Given the description of an element on the screen output the (x, y) to click on. 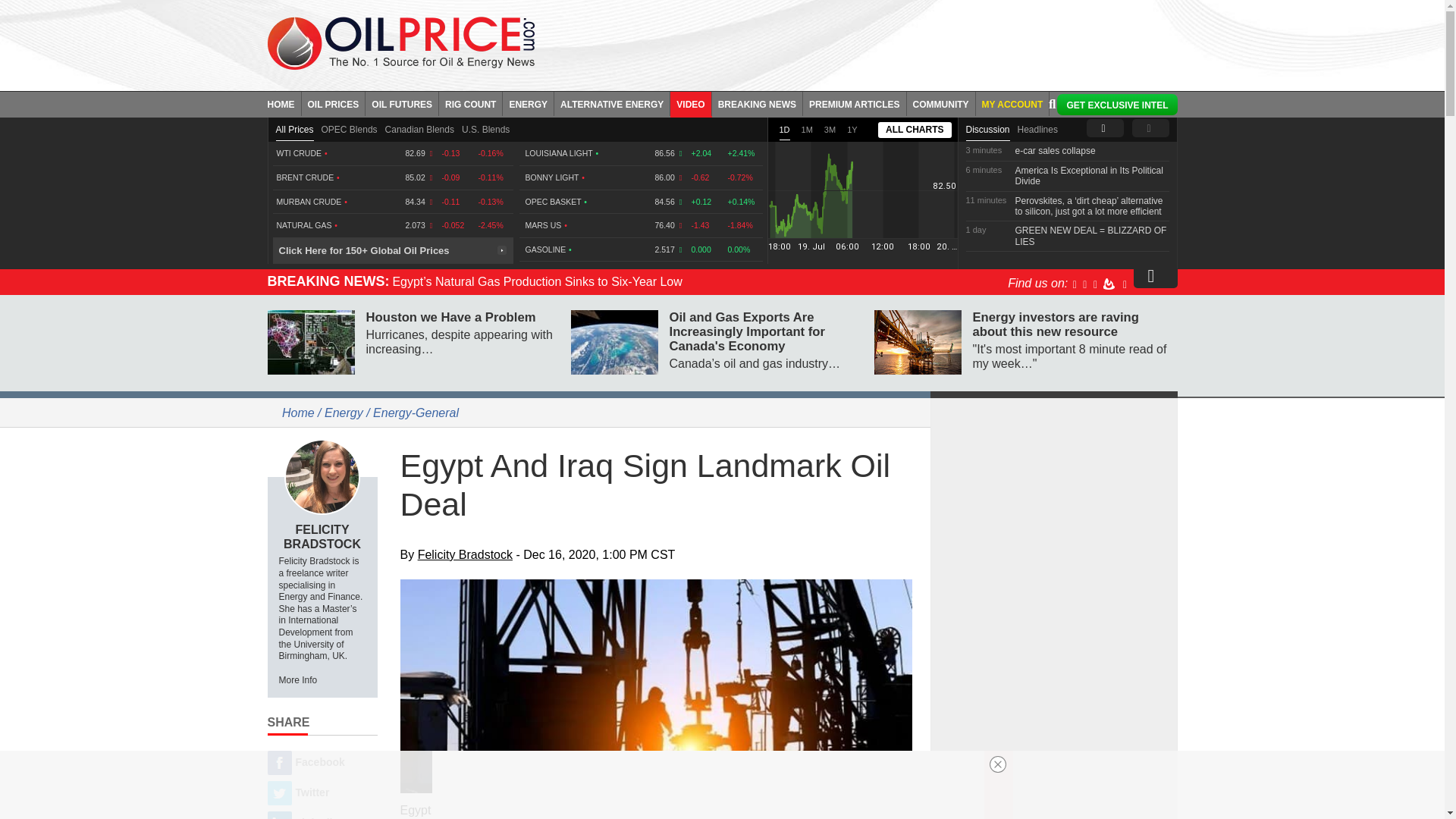
MY ACCOUNT (1012, 103)
PREMIUM ARTICLES (855, 103)
3rd party ad content (866, 41)
OIL FUTURES (402, 103)
ENERGY (528, 103)
OIL PRICES (333, 103)
COMMUNITY (941, 103)
3rd party ad content (1053, 710)
HOME (283, 103)
RIG COUNT (470, 103)
VIDEO (690, 103)
BREAKING NEWS (757, 103)
Houston we Have a Problem (309, 342)
Oil prices - Oilprice.com (400, 42)
3rd party ad content (1053, 502)
